Given the description of an element on the screen output the (x, y) to click on. 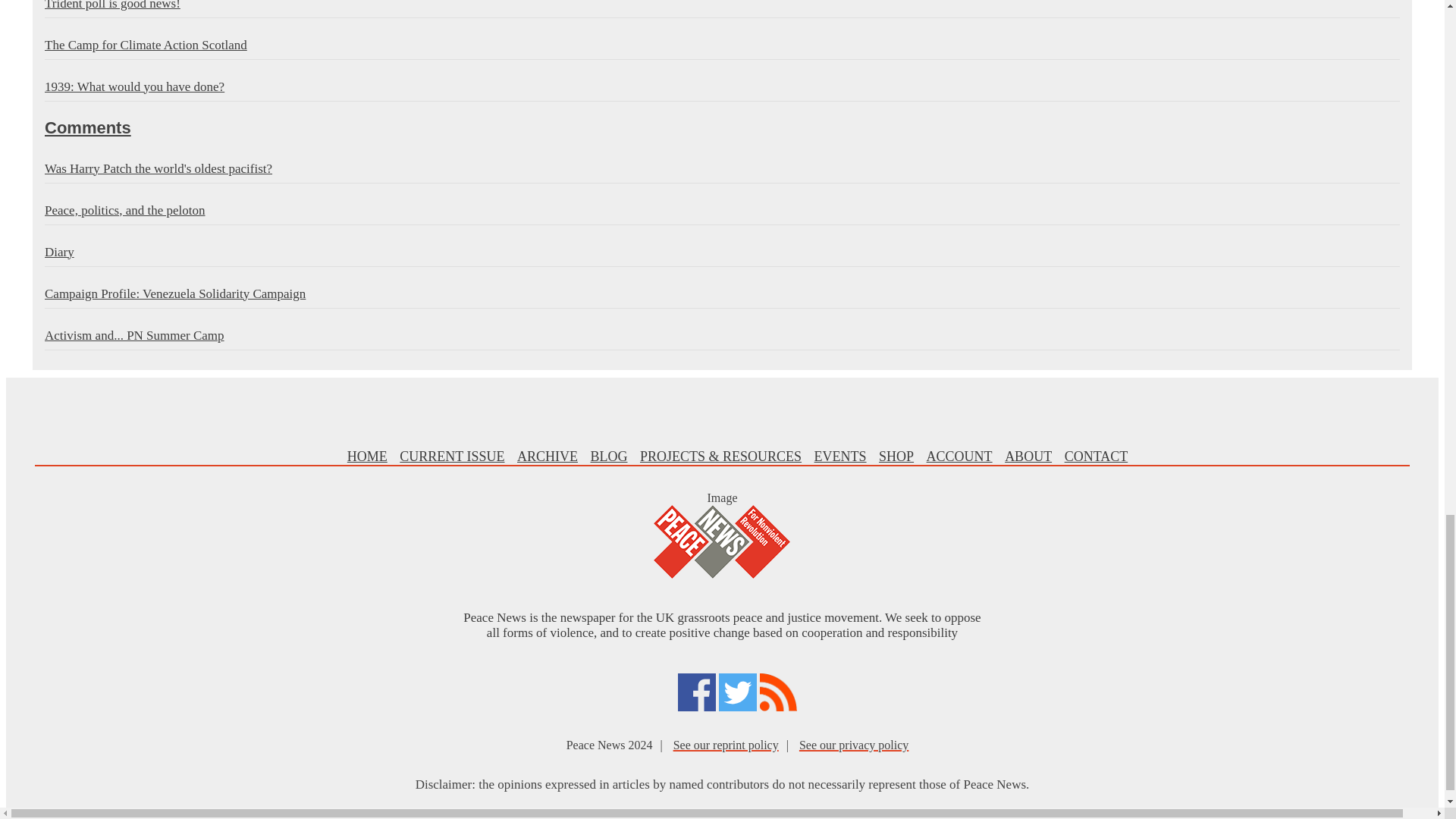
shop (896, 456)
Issues (451, 456)
Our work (720, 456)
About (1028, 456)
